Given the description of an element on the screen output the (x, y) to click on. 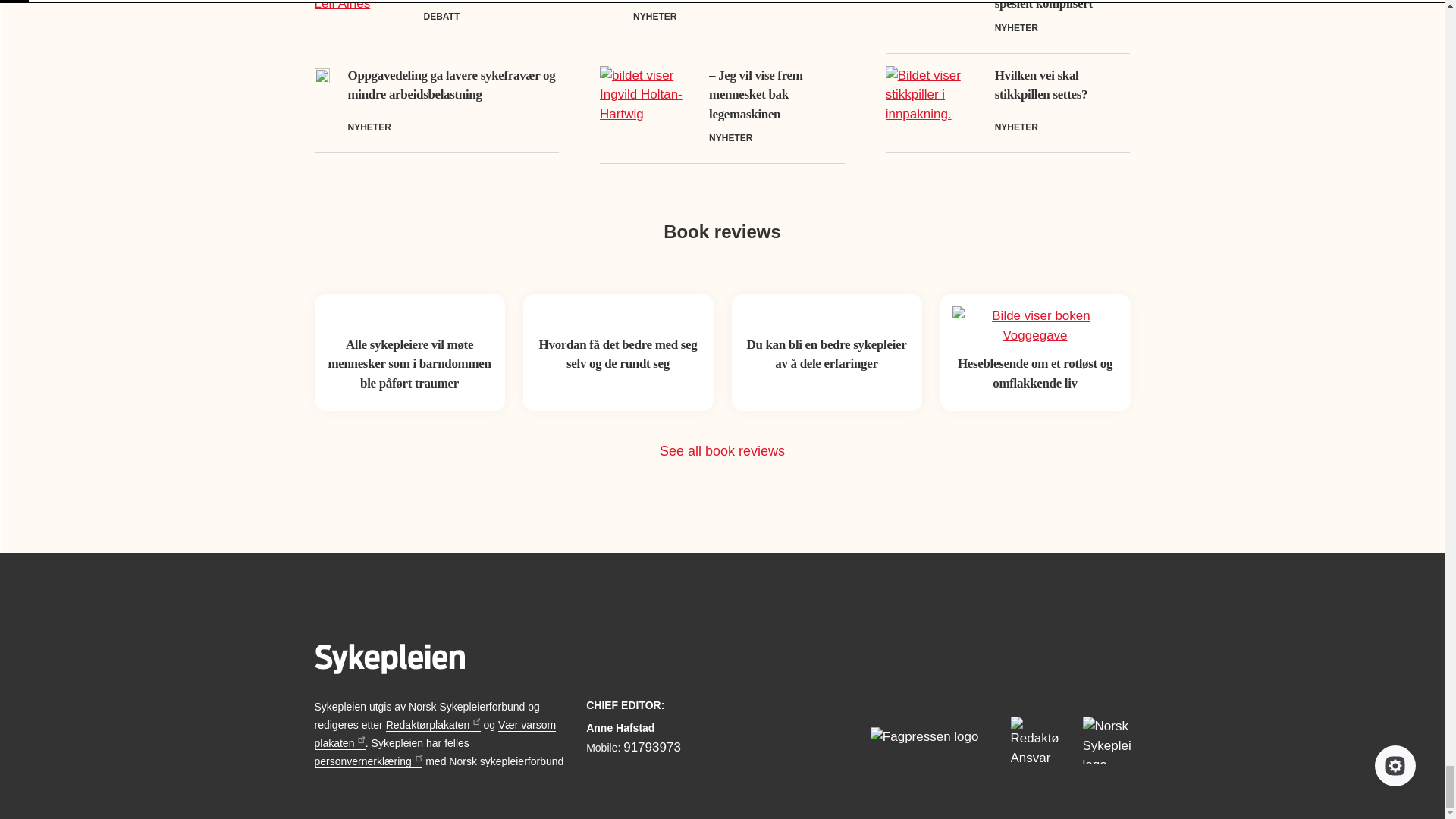
Boken Voggegave (1035, 325)
Fagpressen (928, 740)
Norsk Sykepleierforbund (1107, 740)
Hvilken vei skal stikkpillen settes? (1040, 84)
